Given the description of an element on the screen output the (x, y) to click on. 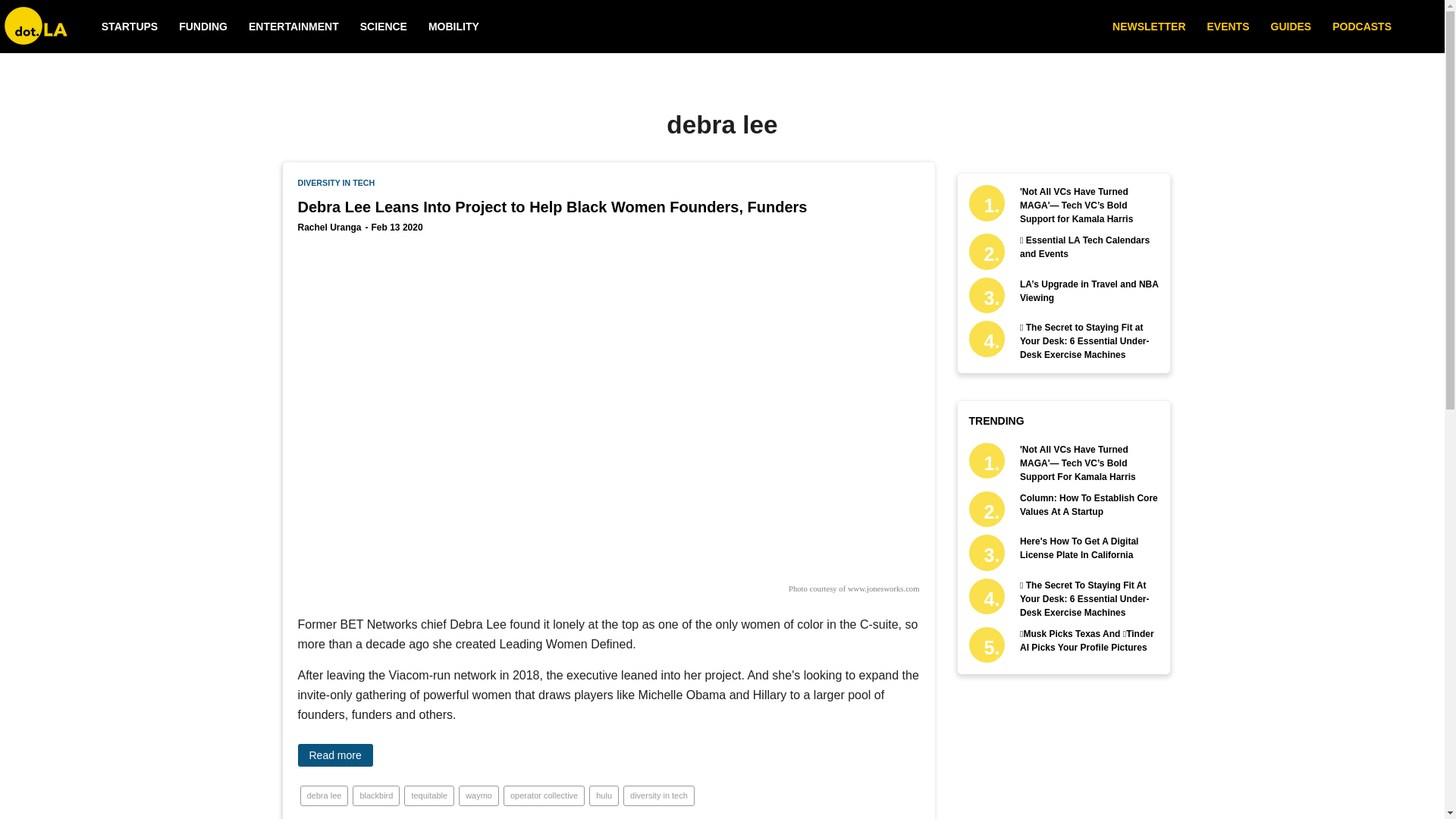
STARTUPS (129, 26)
SCIENCE (383, 26)
ENTERTAINMENT (293, 26)
FUNDING (203, 26)
